Given the description of an element on the screen output the (x, y) to click on. 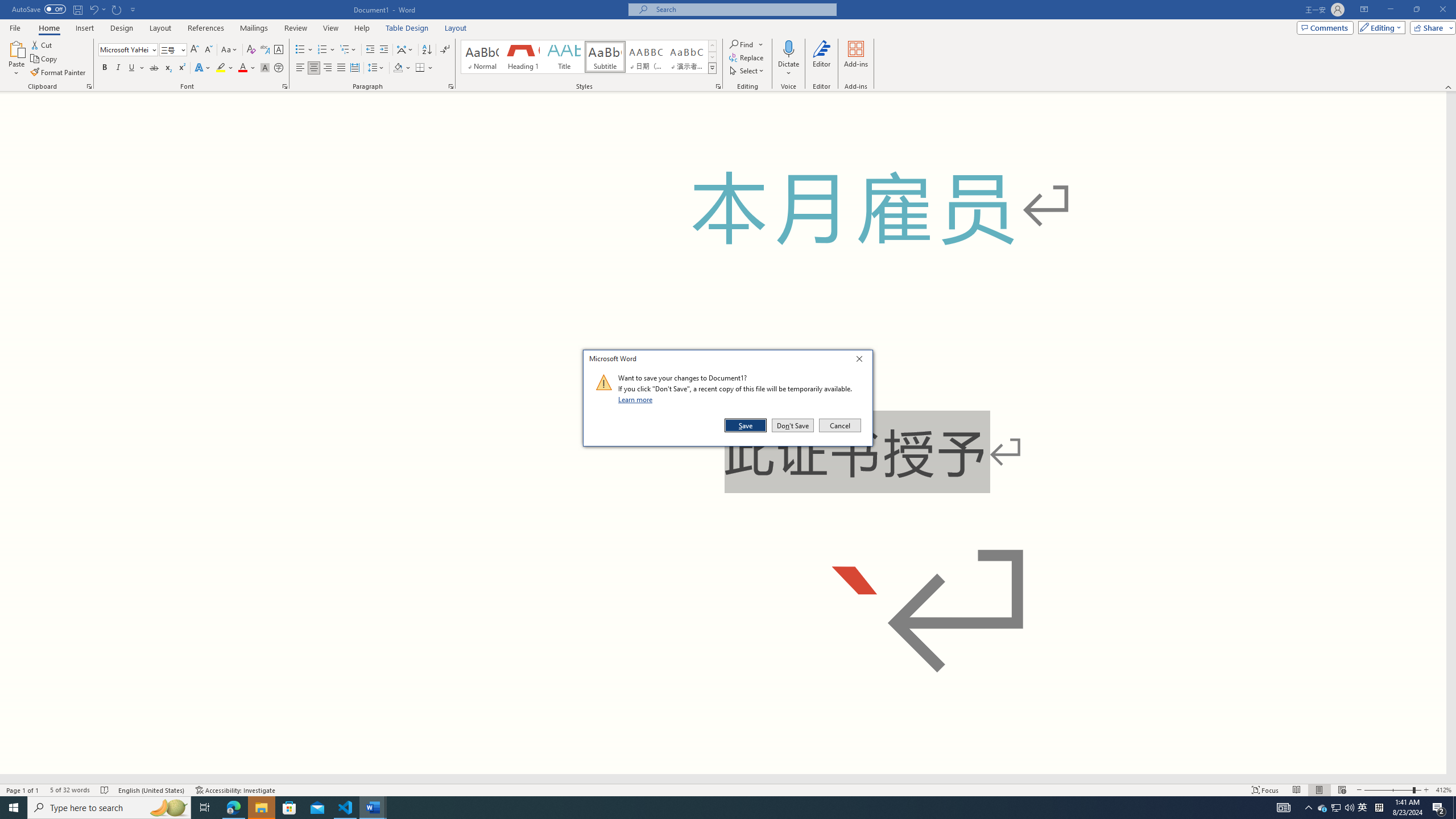
Running applications (700, 807)
